Given the description of an element on the screen output the (x, y) to click on. 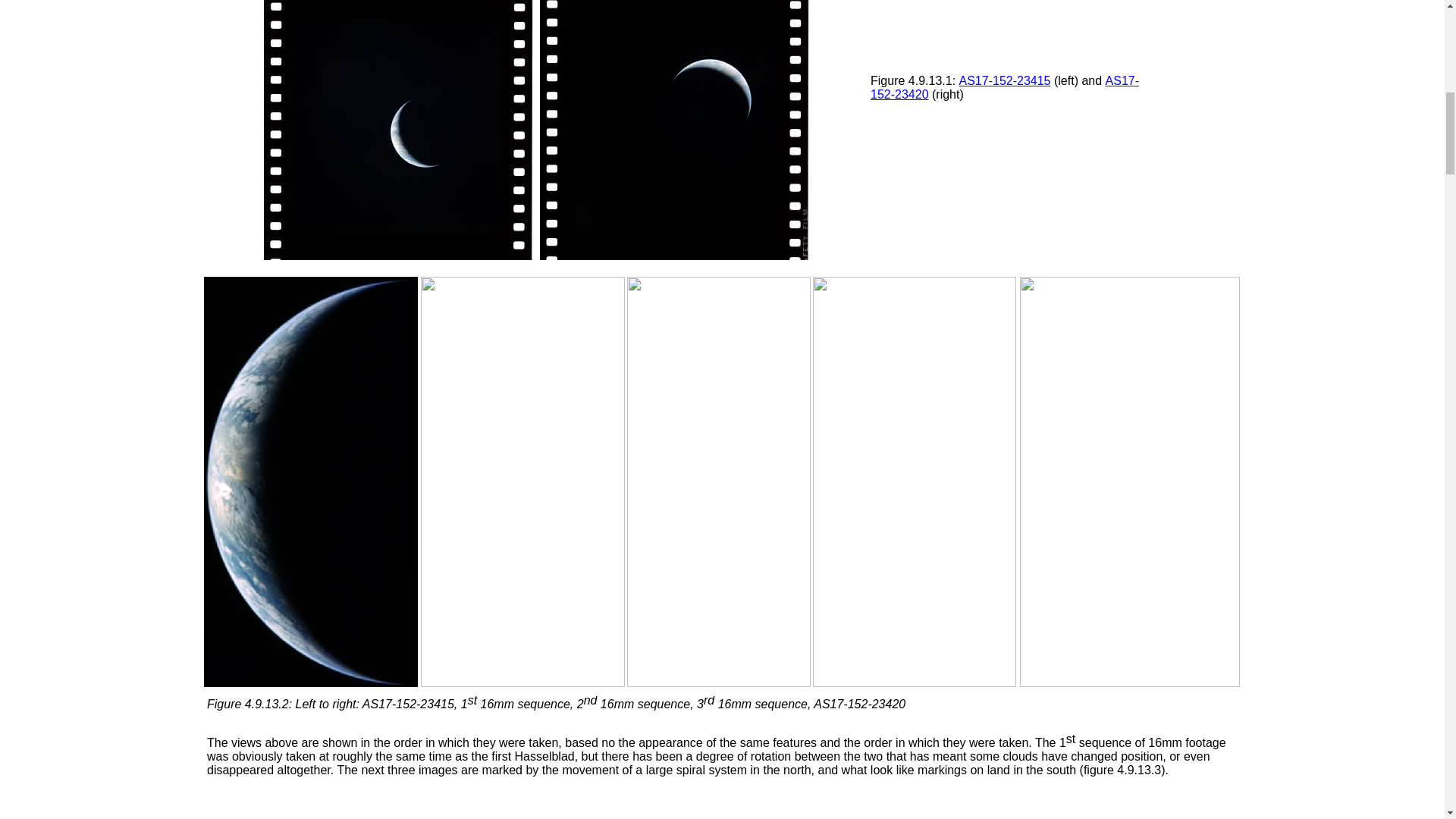
AS17-152-23420 (1004, 87)
AS17-152-23415 (1005, 80)
